Given the description of an element on the screen output the (x, y) to click on. 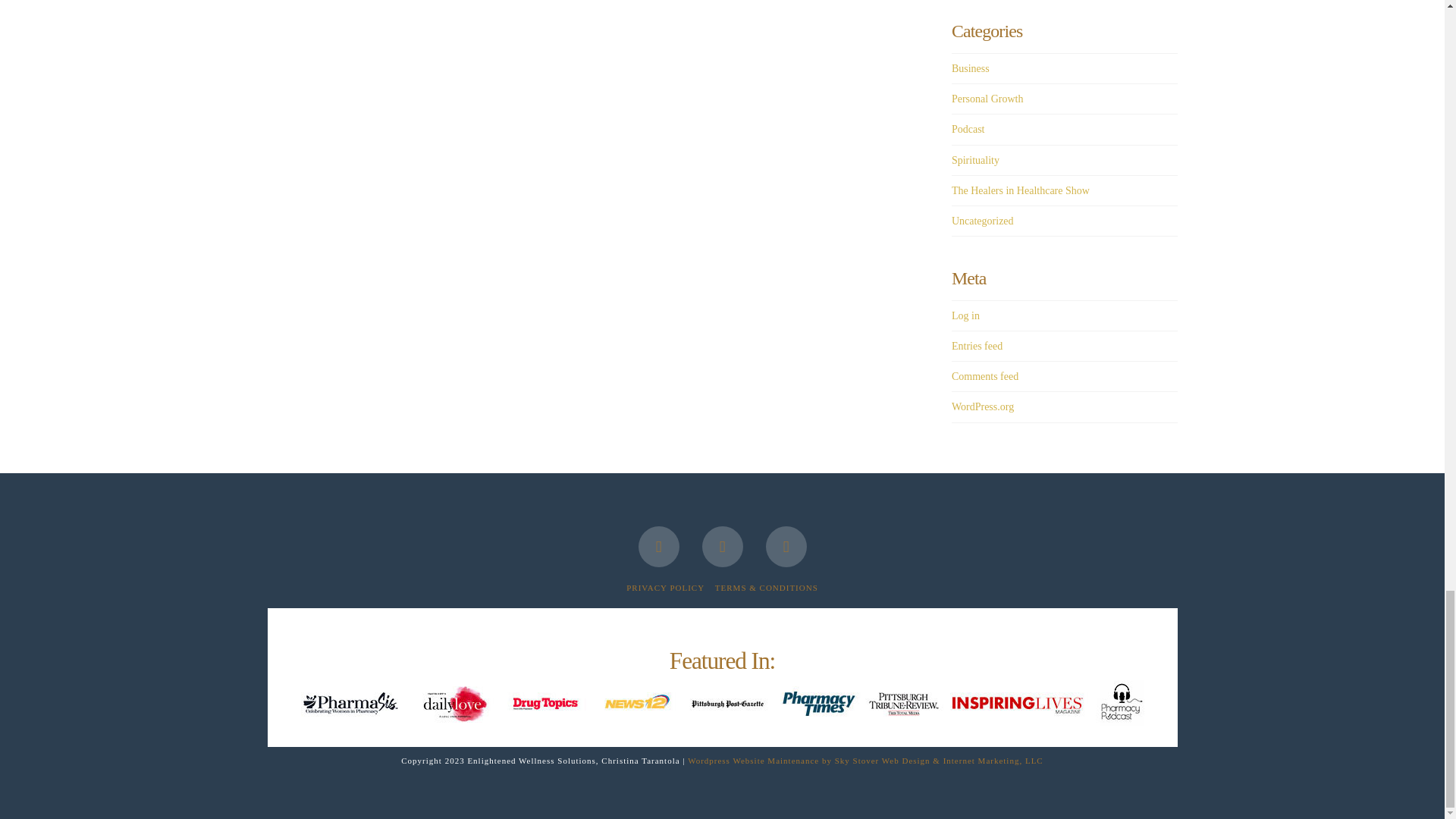
Facebook (659, 546)
Wordpress Website Maintenance Plans (865, 759)
YouTube (721, 546)
Instagram (785, 546)
